Given the description of an element on the screen output the (x, y) to click on. 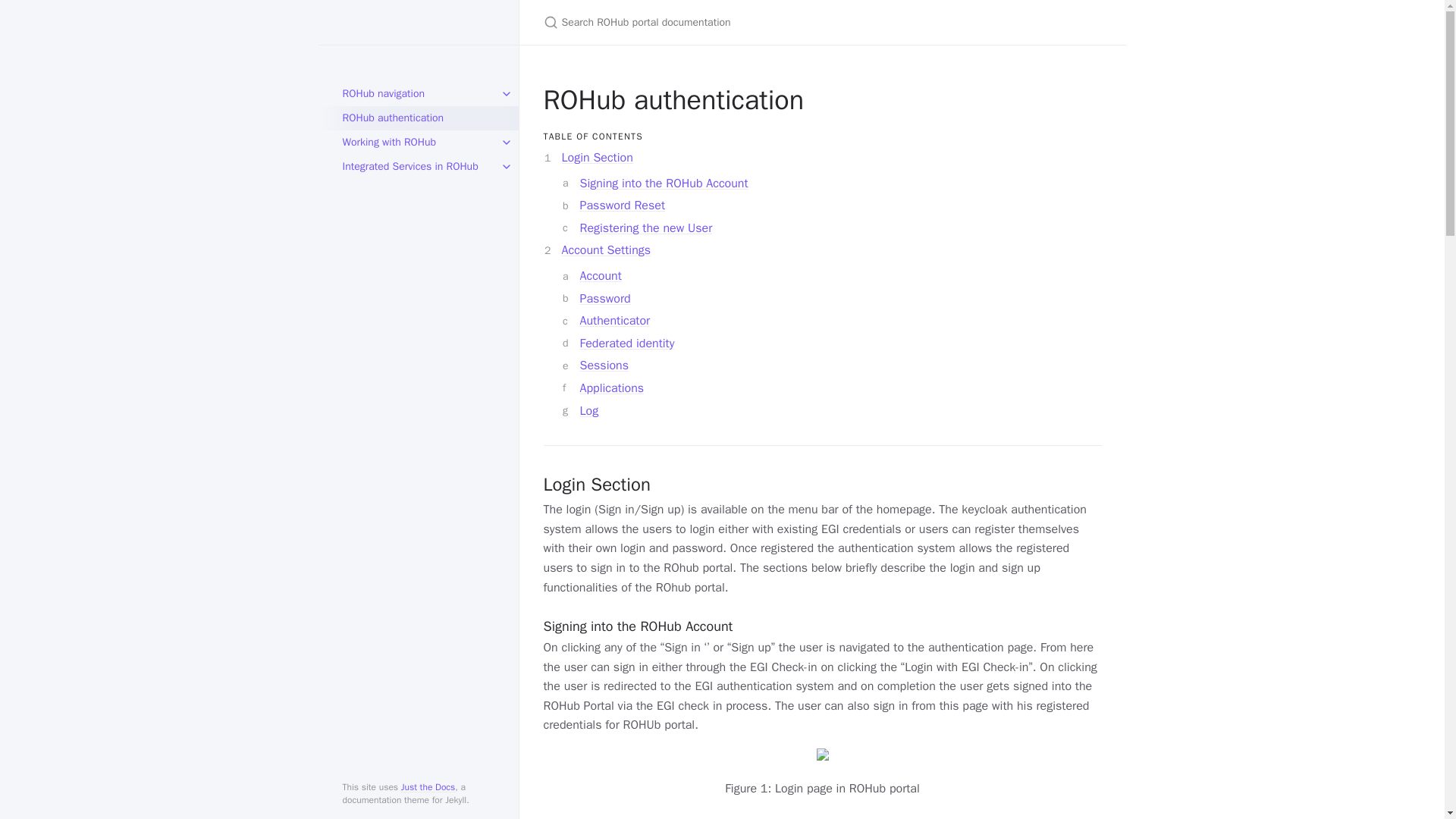
ROHub authentication (418, 118)
Working with ROHub (418, 142)
ROHub navigation (418, 93)
